Given the description of an element on the screen output the (x, y) to click on. 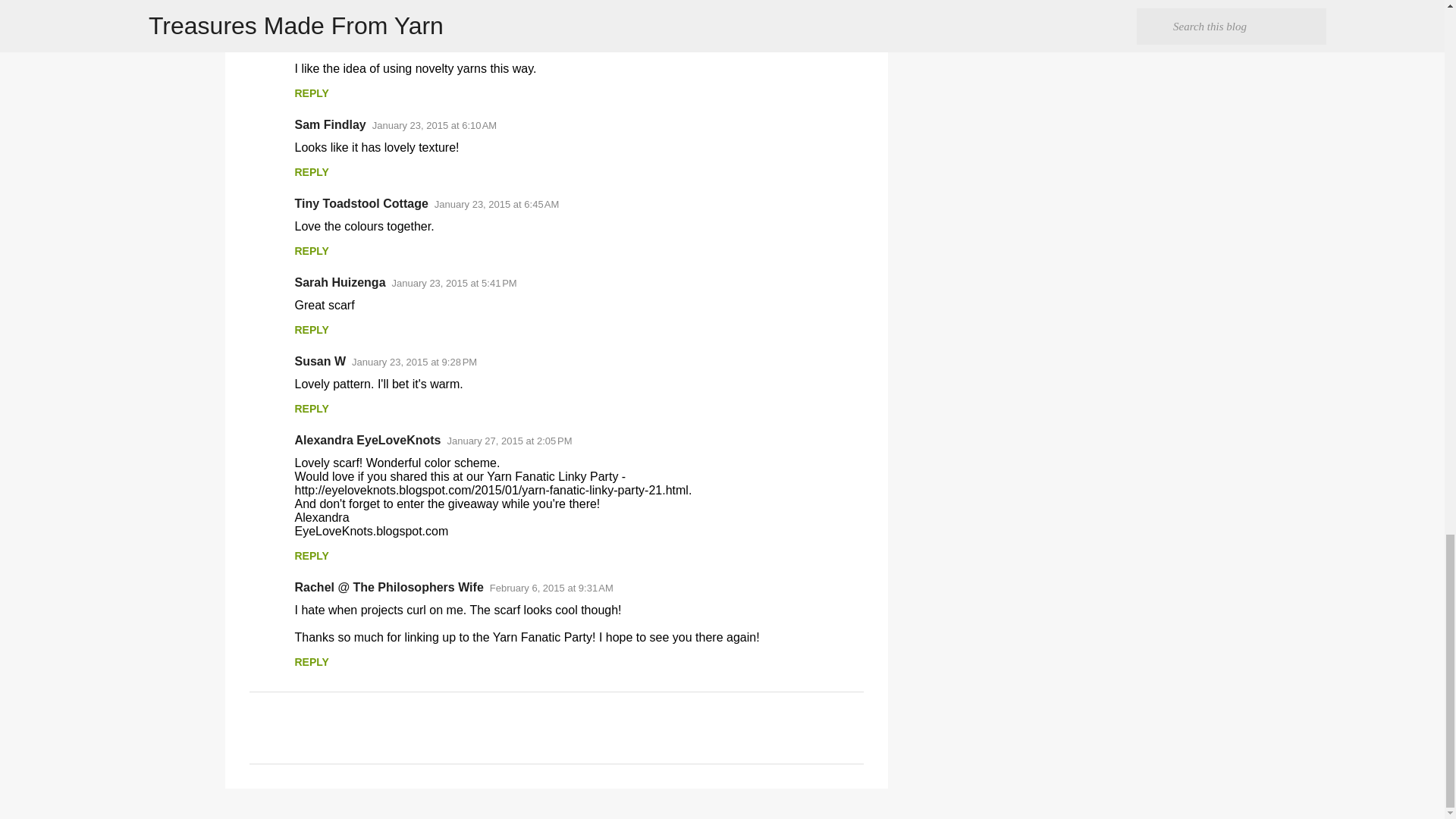
REPLY (311, 172)
Mlissabeth (325, 45)
Sam Findlay (329, 124)
Tiny Toadstool Cottage (361, 203)
REPLY (311, 92)
